Given the description of an element on the screen output the (x, y) to click on. 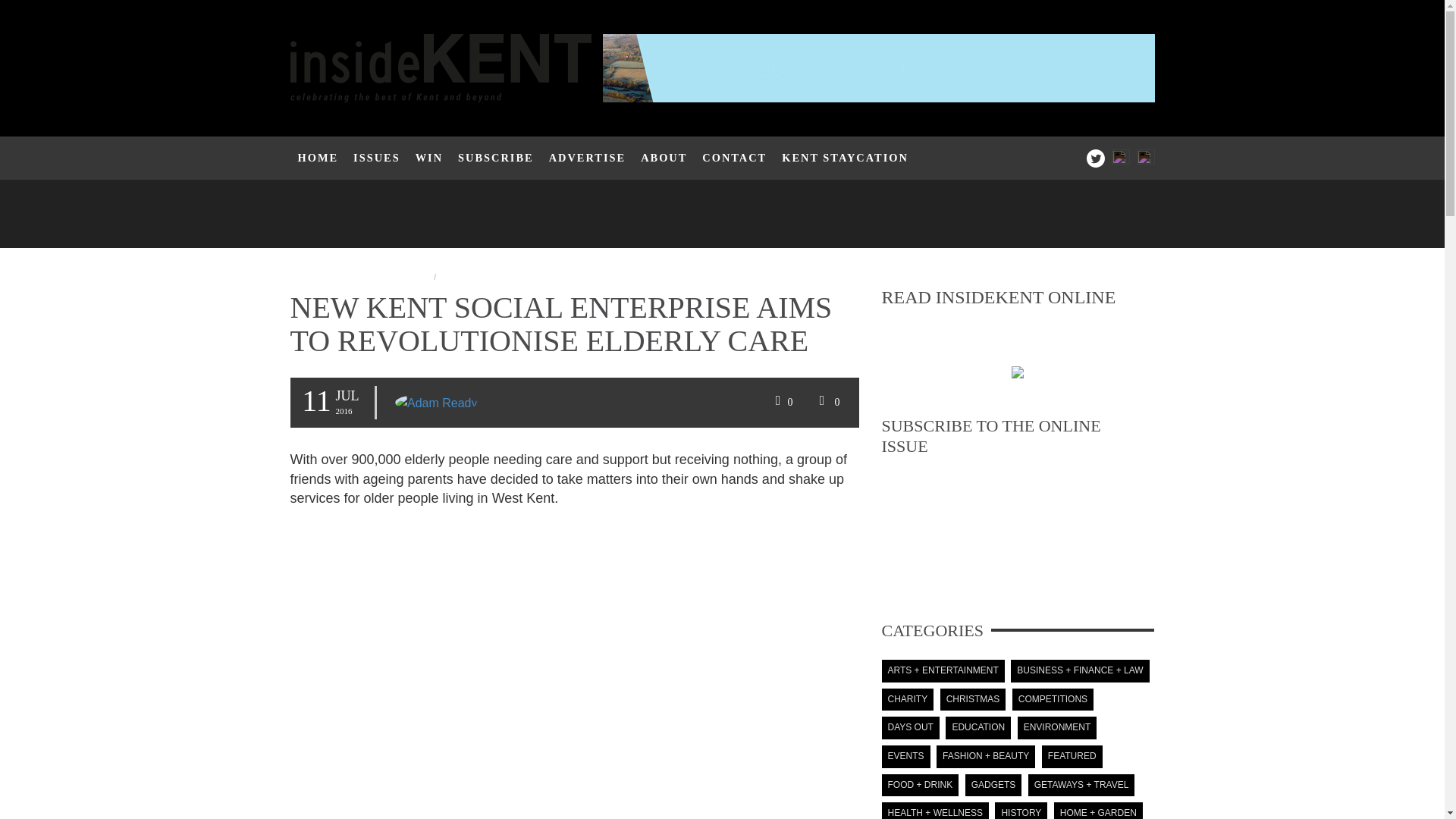
CONTACT (734, 158)
KENT STAYCATION (844, 158)
0 (827, 402)
SUBSCRIBE (495, 158)
ISSUES (376, 158)
ABOUT (663, 158)
HOME (317, 158)
I like this (781, 402)
WIN (428, 158)
View all posts by Adam Ready (435, 403)
ADVERTISE (587, 158)
0 (781, 402)
